Given the description of an element on the screen output the (x, y) to click on. 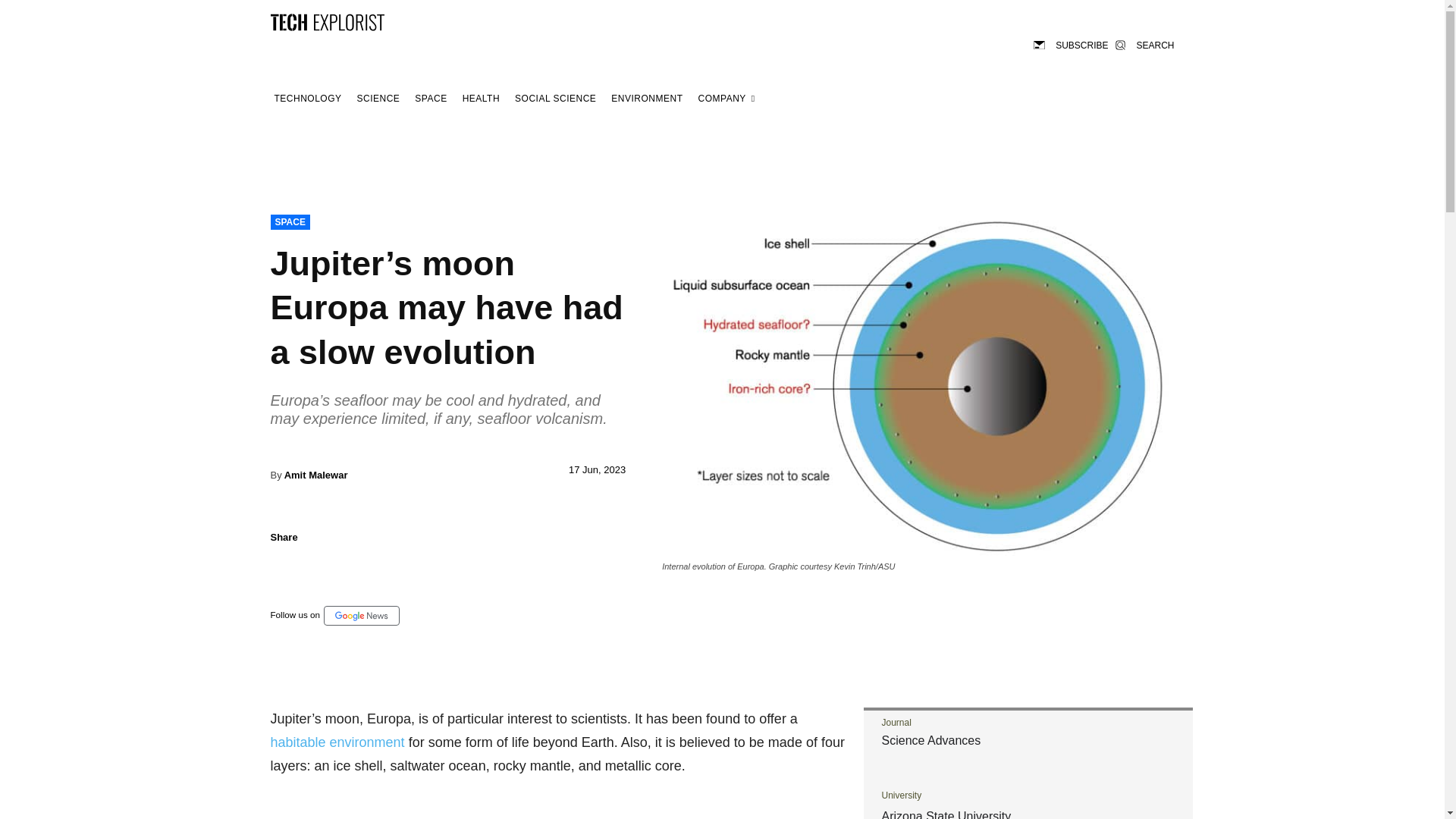
SOCIAL SCIENCE (555, 98)
ENVIRONMENT (646, 98)
HEALTH (480, 98)
SEARCH (1144, 44)
COMPANY (726, 98)
Amit Malewar (315, 474)
Health (480, 98)
Technology (307, 98)
SCIENCE (378, 98)
